Given the description of an element on the screen output the (x, y) to click on. 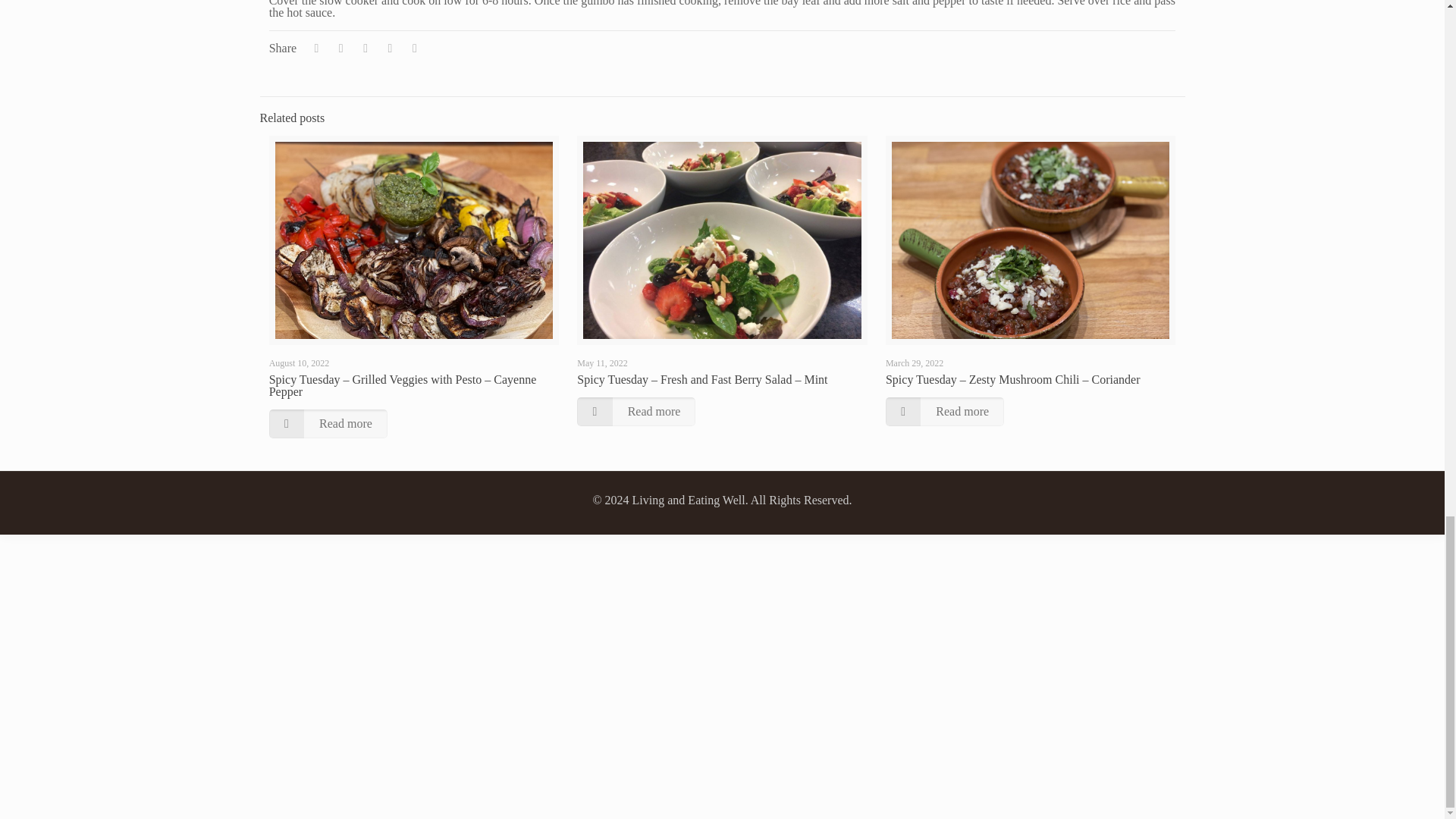
Read more (328, 423)
Read more (635, 411)
Read more (944, 411)
